Given the description of an element on the screen output the (x, y) to click on. 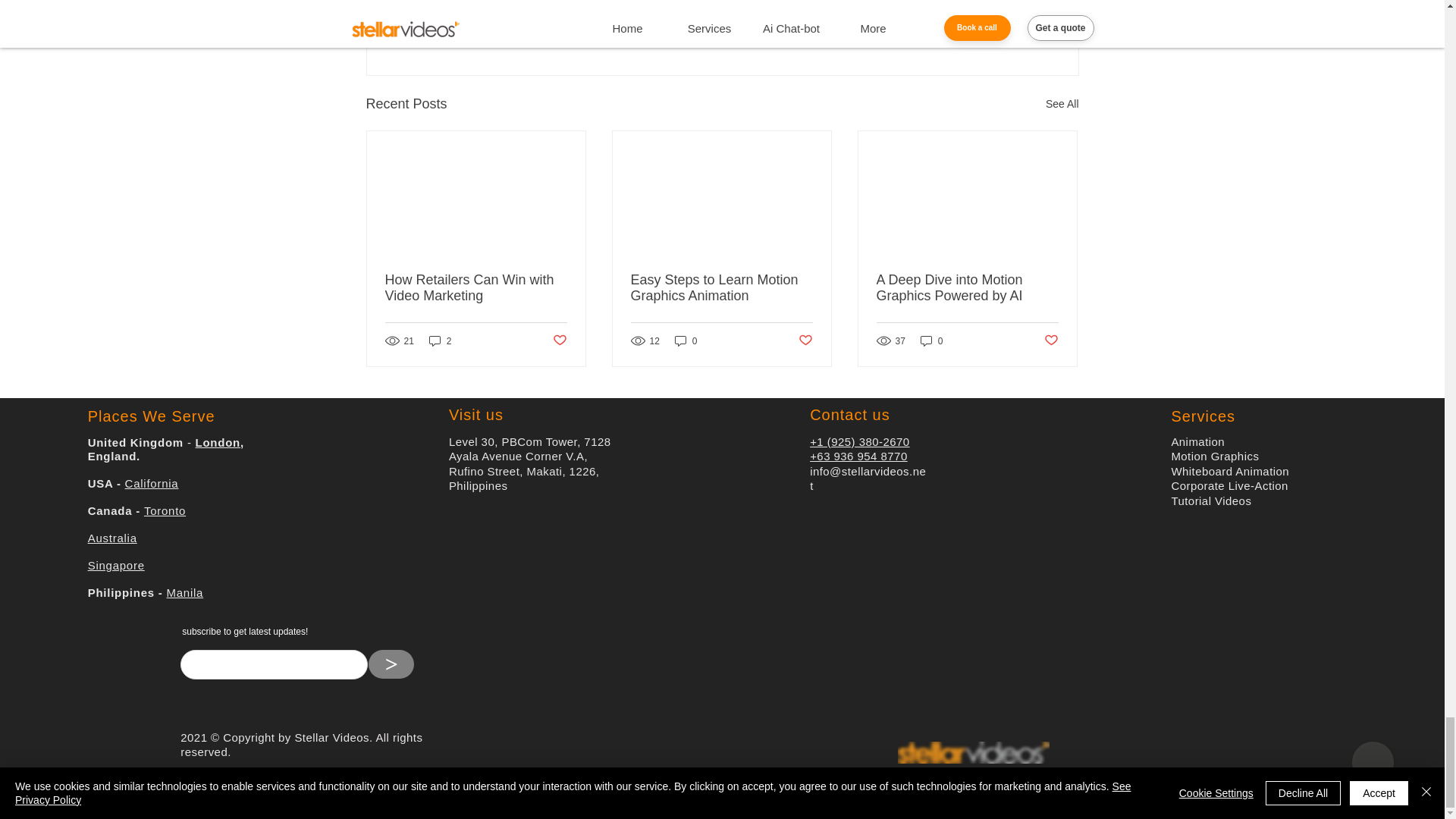
See All (1061, 104)
2 (440, 340)
Post not marked as liked (995, 21)
0 (685, 340)
How Retailers Can Win with Video Marketing (476, 287)
Post not marked as liked (558, 340)
Easy Steps to Learn Motion Graphics Animation (721, 287)
